Given the description of an element on the screen output the (x, y) to click on. 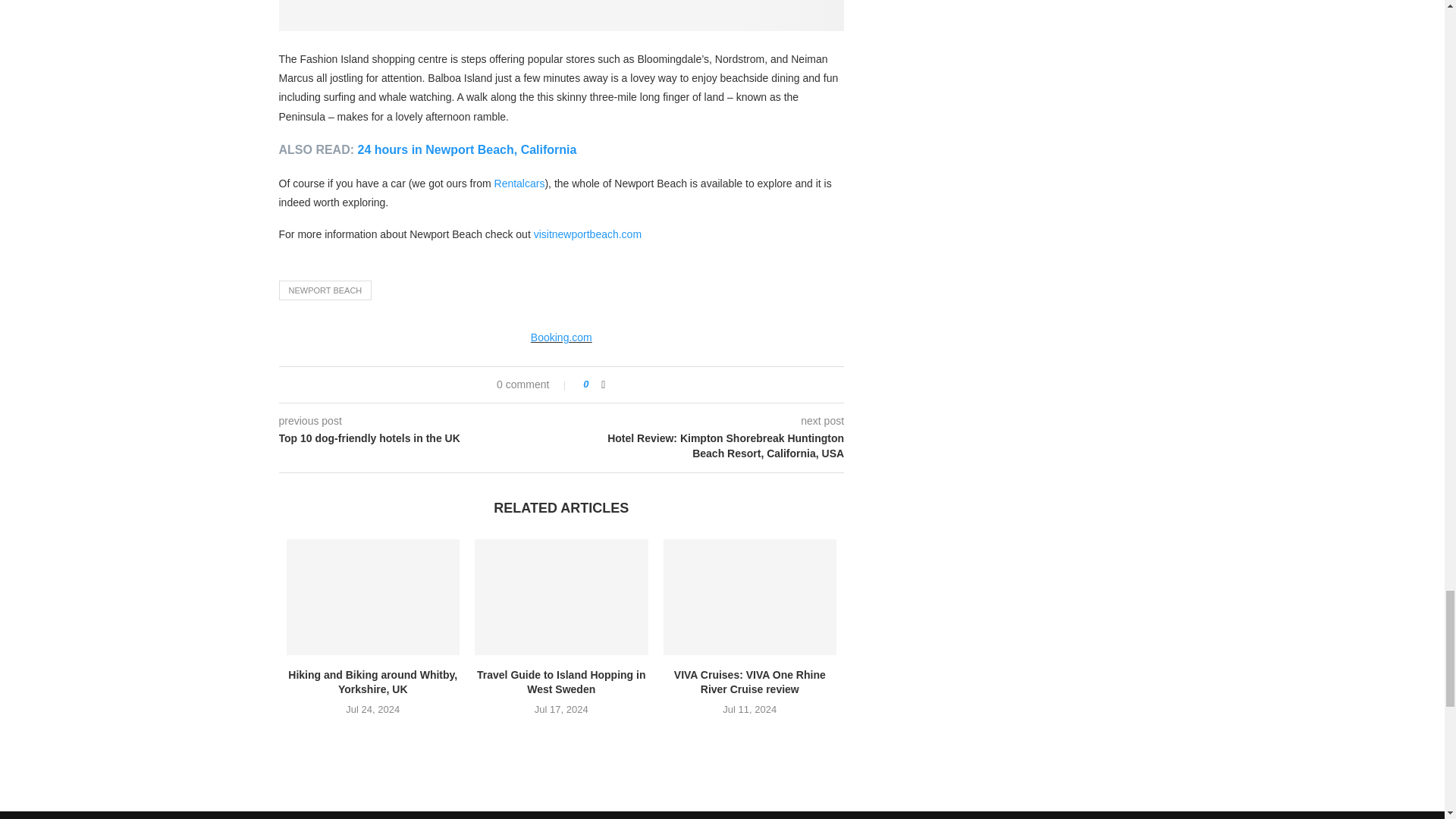
Hiking and Biking around Whitby, Yorkshire, UK (373, 596)
Travel Guide to Island Hopping in West Sweden (560, 596)
VIVA Cruises: VIVA One Rhine River Cruise review (750, 596)
